Given the description of an element on the screen output the (x, y) to click on. 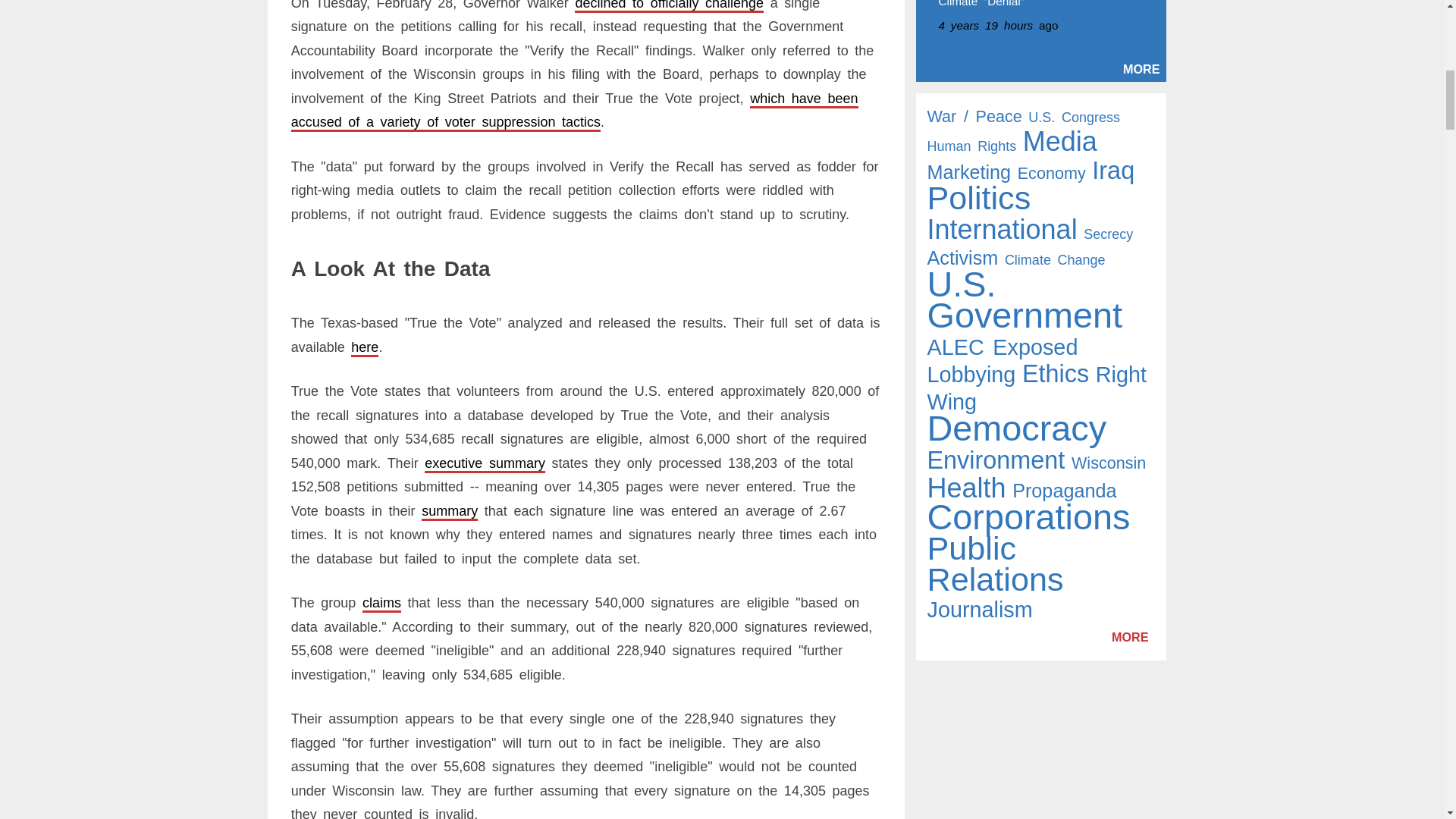
executive summary (484, 462)
summary (449, 510)
claims (381, 602)
declined to officially challenge (668, 5)
here (364, 346)
